Given the description of an element on the screen output the (x, y) to click on. 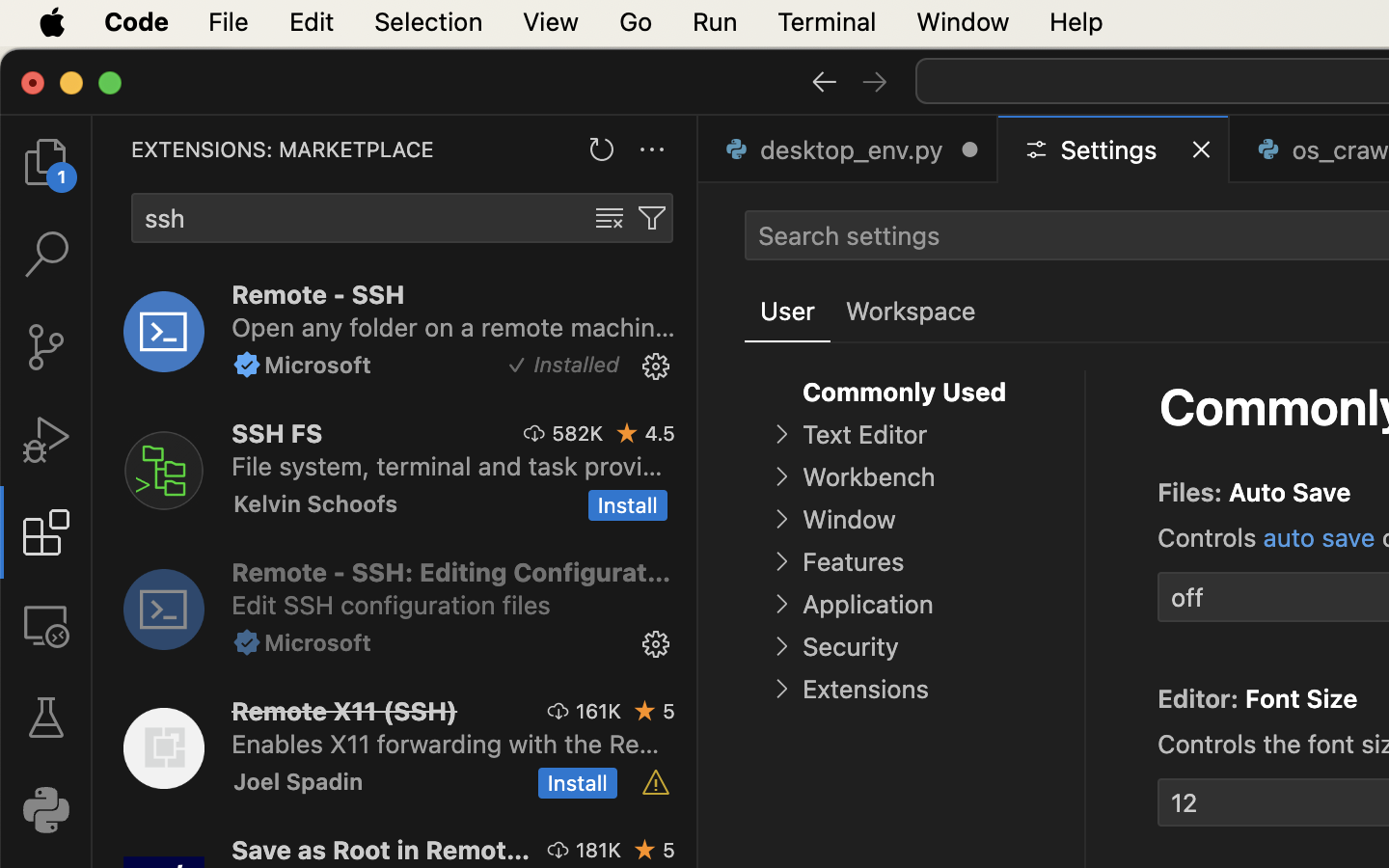
Controls Element type: AXStaticText (1210, 536)
 Element type: AXStaticText (534, 432)
Remote X11 (SSH) Element type: AXStaticText (345, 710)
Installed Element type: AXStaticText (576, 365)
Commonly Used Element type: AXStaticText (904, 392)
